Given the description of an element on the screen output the (x, y) to click on. 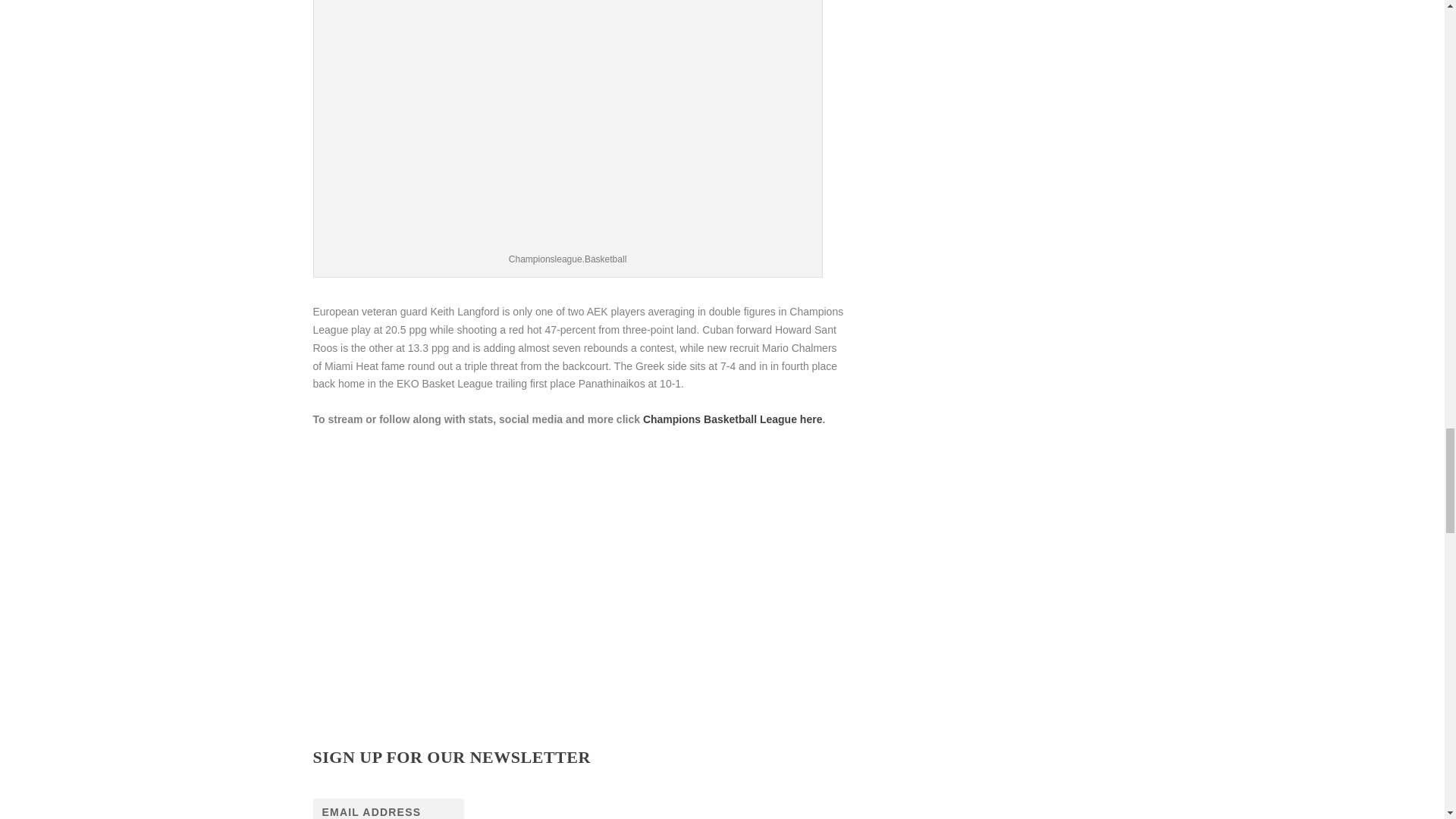
5 (578, 664)
Champions Basketball League here (732, 419)
